Given the description of an element on the screen output the (x, y) to click on. 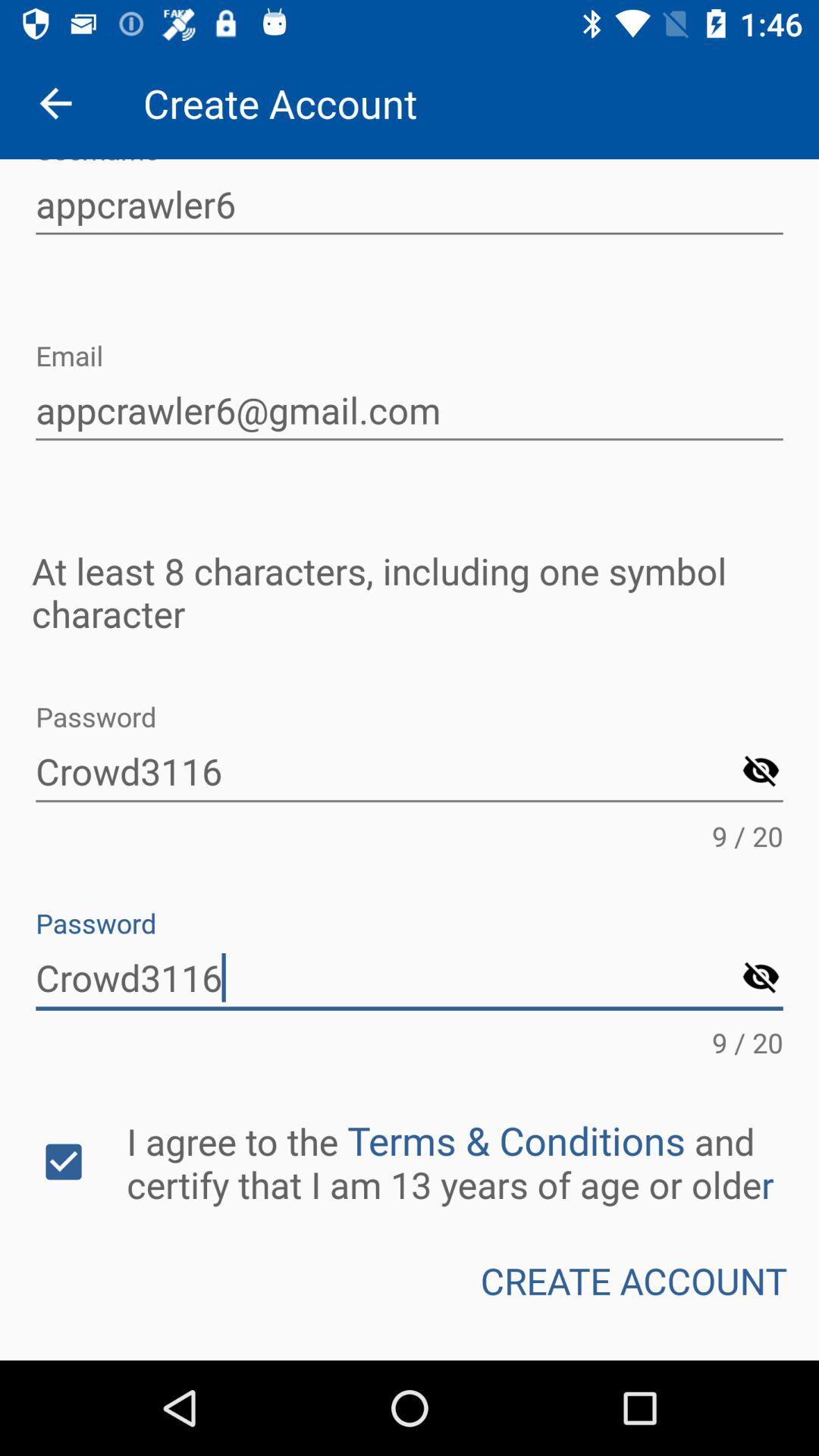
password symbol (761, 978)
